Given the description of an element on the screen output the (x, y) to click on. 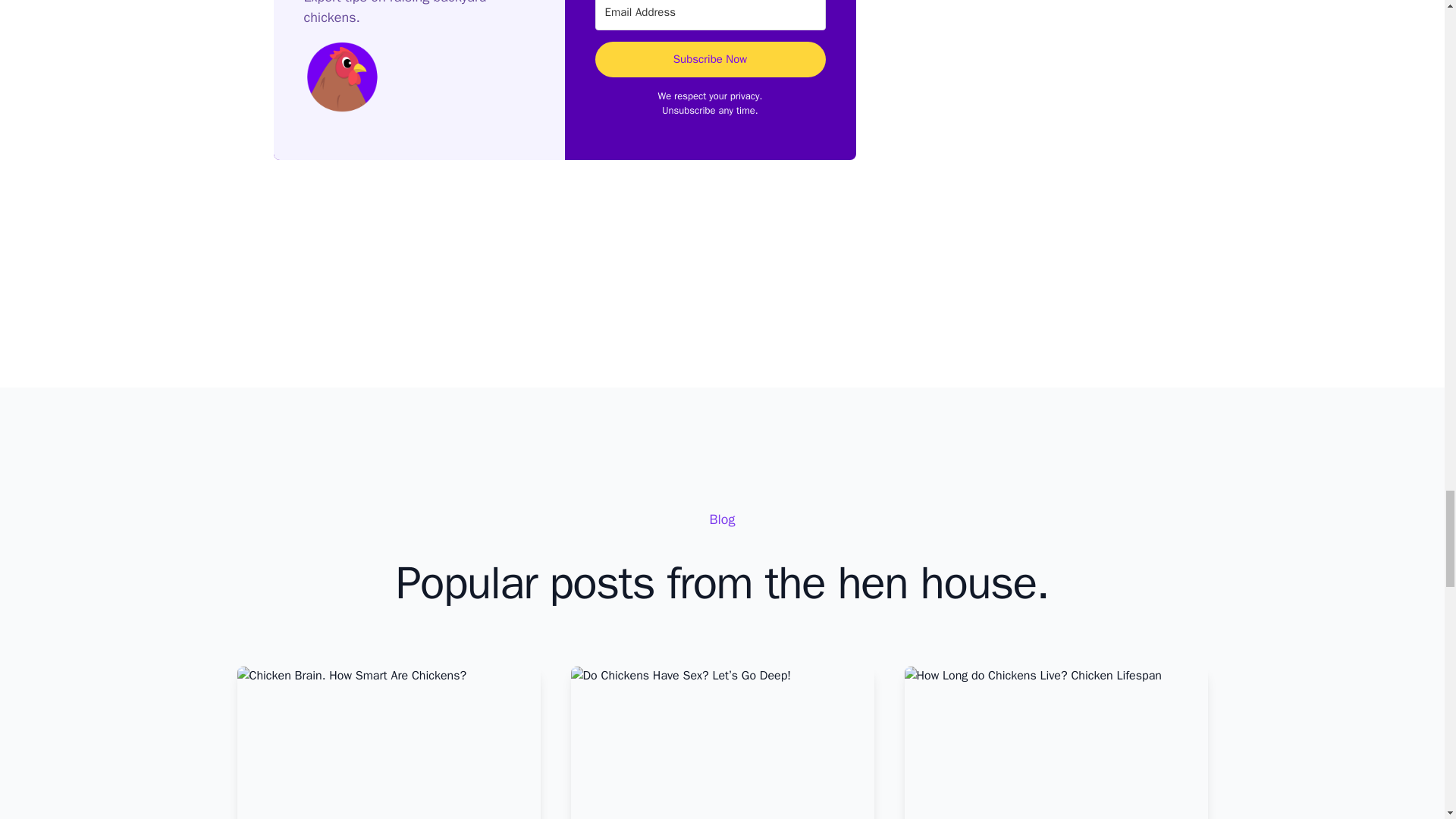
Subscribe Now (709, 58)
